Given the description of an element on the screen output the (x, y) to click on. 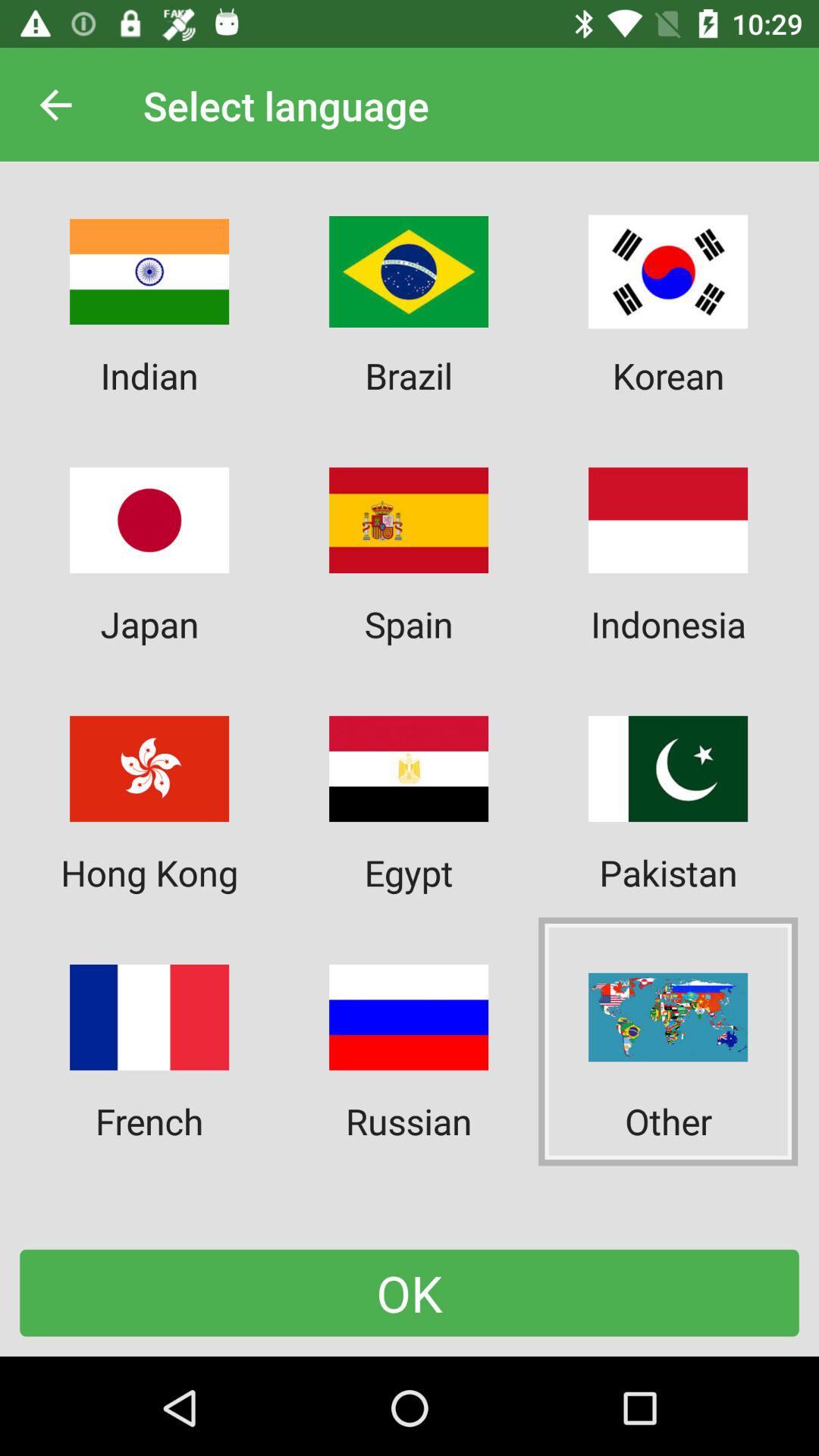
click item below french (409, 1292)
